Given the description of an element on the screen output the (x, y) to click on. 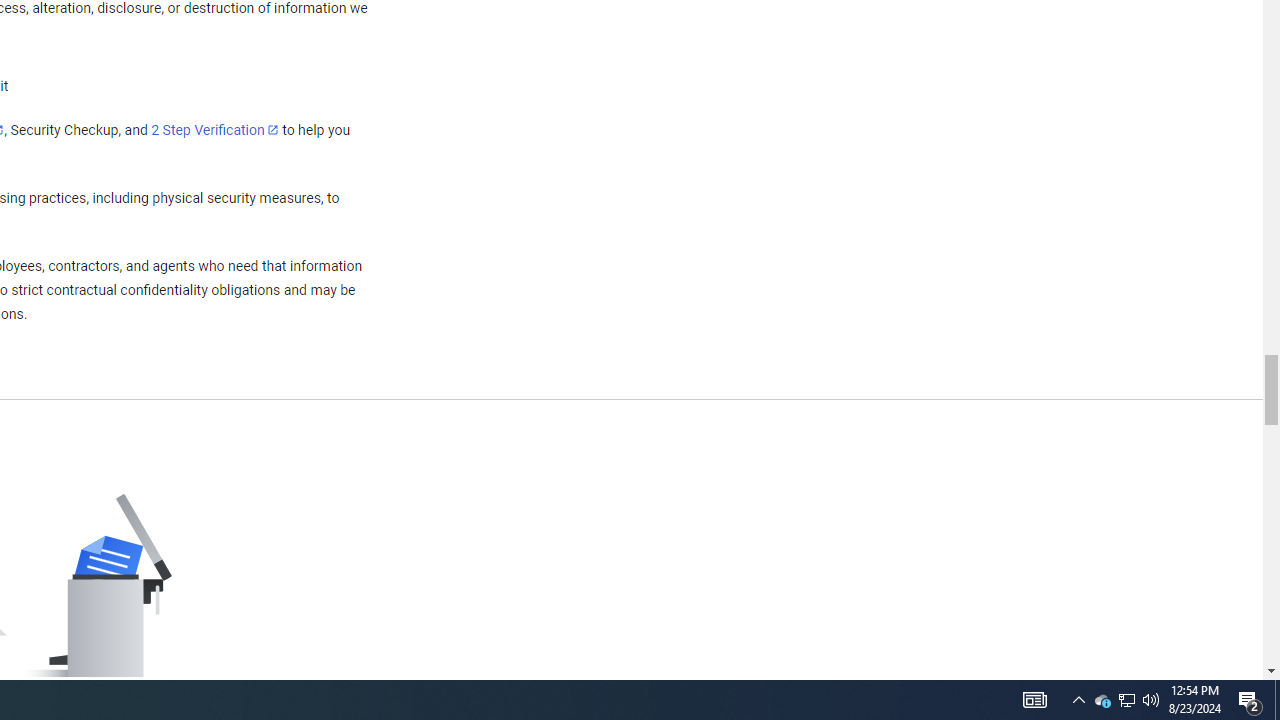
2 Step Verification (215, 129)
